Given the description of an element on the screen output the (x, y) to click on. 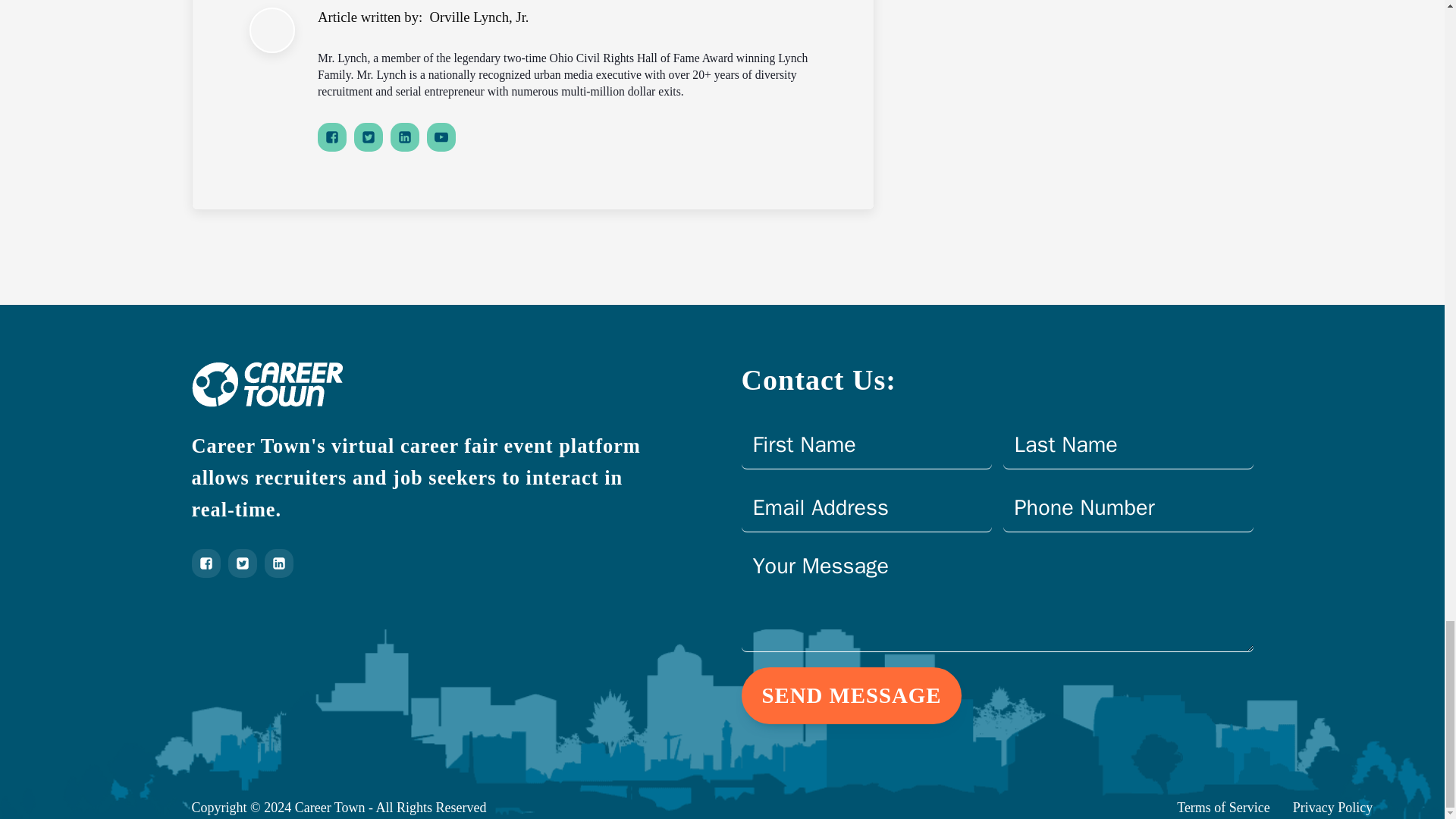
SEND MESSAGE (851, 695)
